Given the description of an element on the screen output the (x, y) to click on. 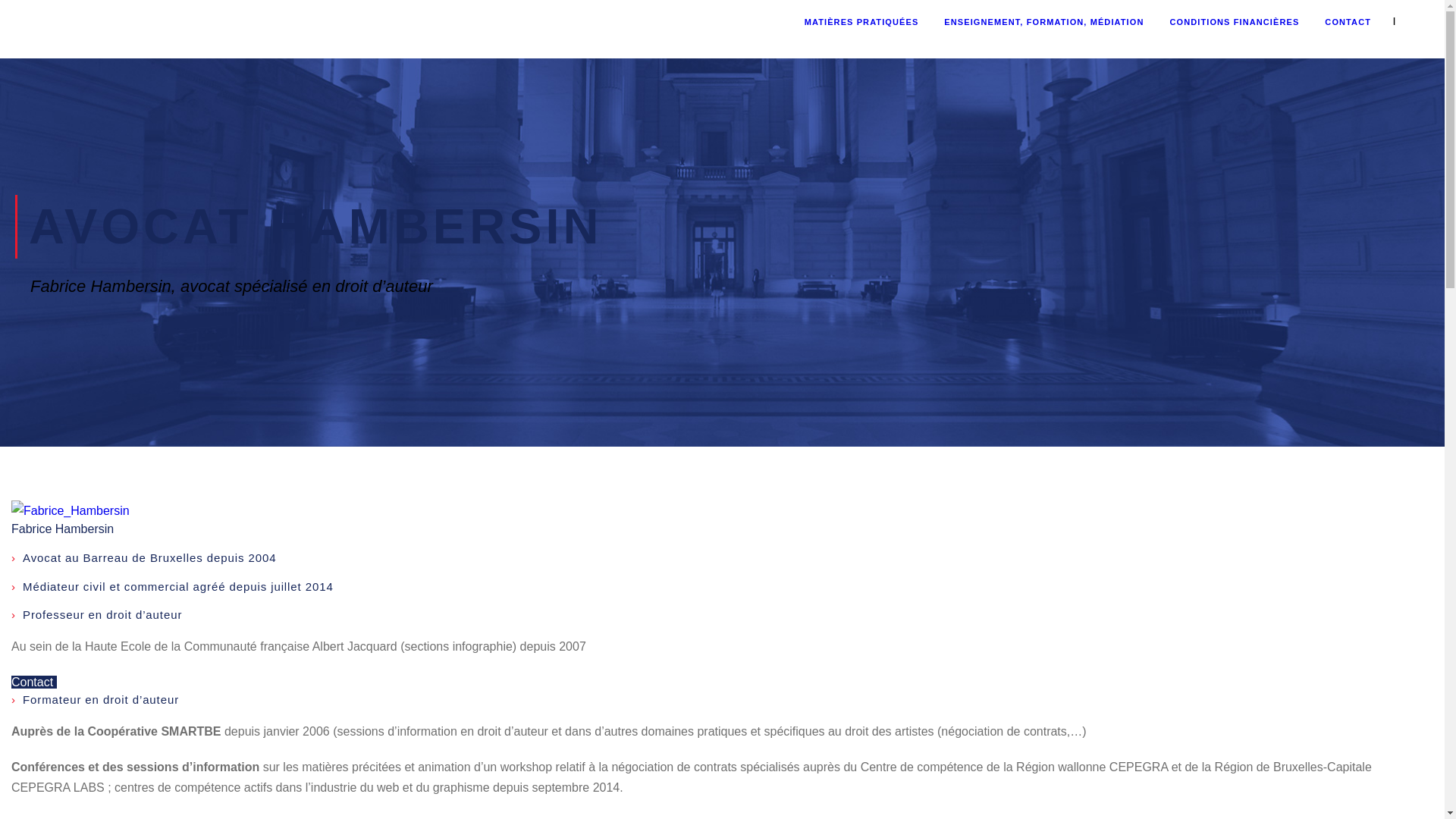
CONTACT Element type: text (1347, 29)
Fabrice_Hambersin Element type: hover (70, 510)
Contact Element type: text (33, 681)
